Given the description of an element on the screen output the (x, y) to click on. 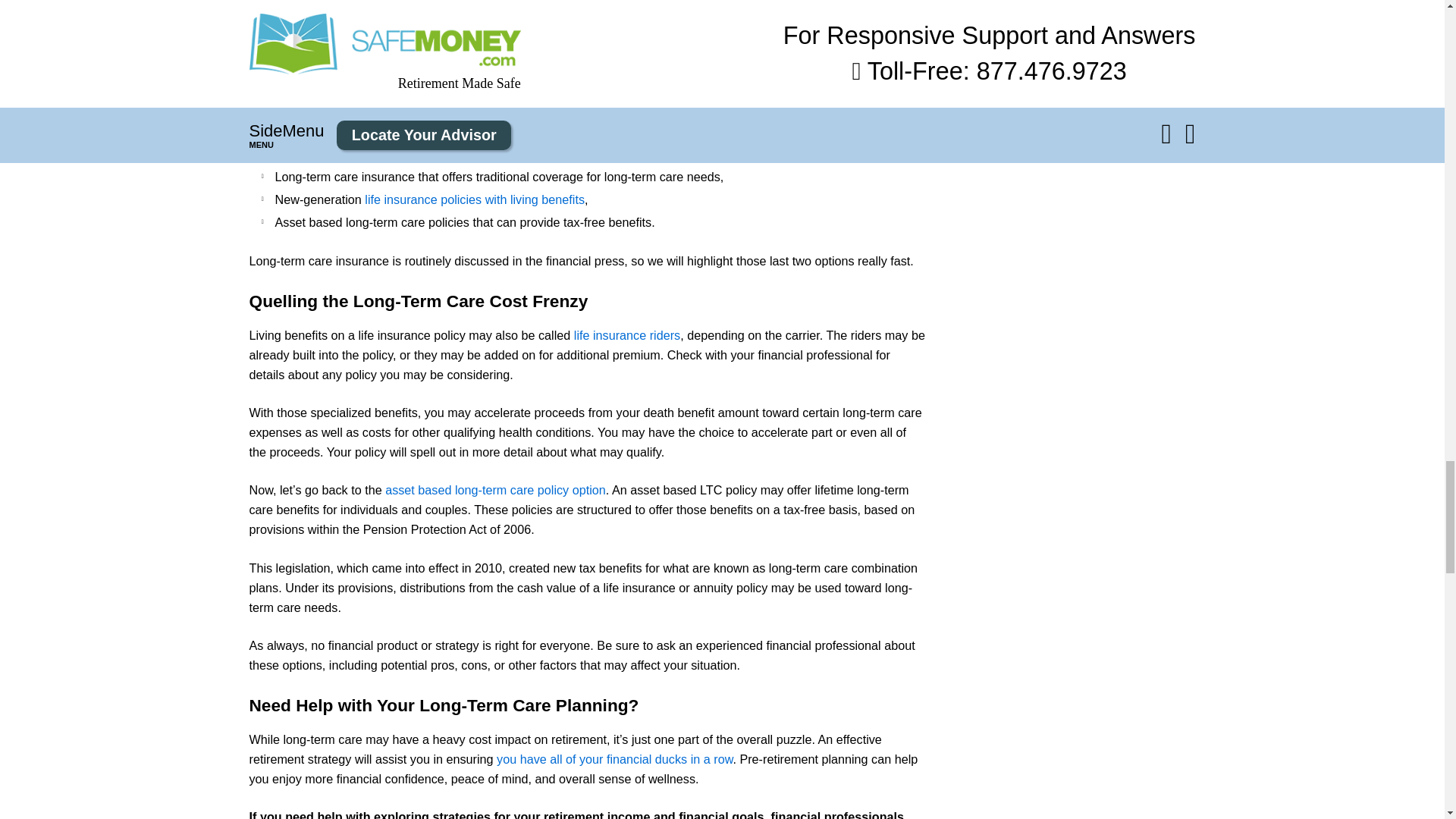
you have all of your financial ducks in a row (614, 758)
asset based long-term care policy option (495, 489)
life insurance policies with living benefits (475, 199)
life insurance riders (626, 335)
